Given the description of an element on the screen output the (x, y) to click on. 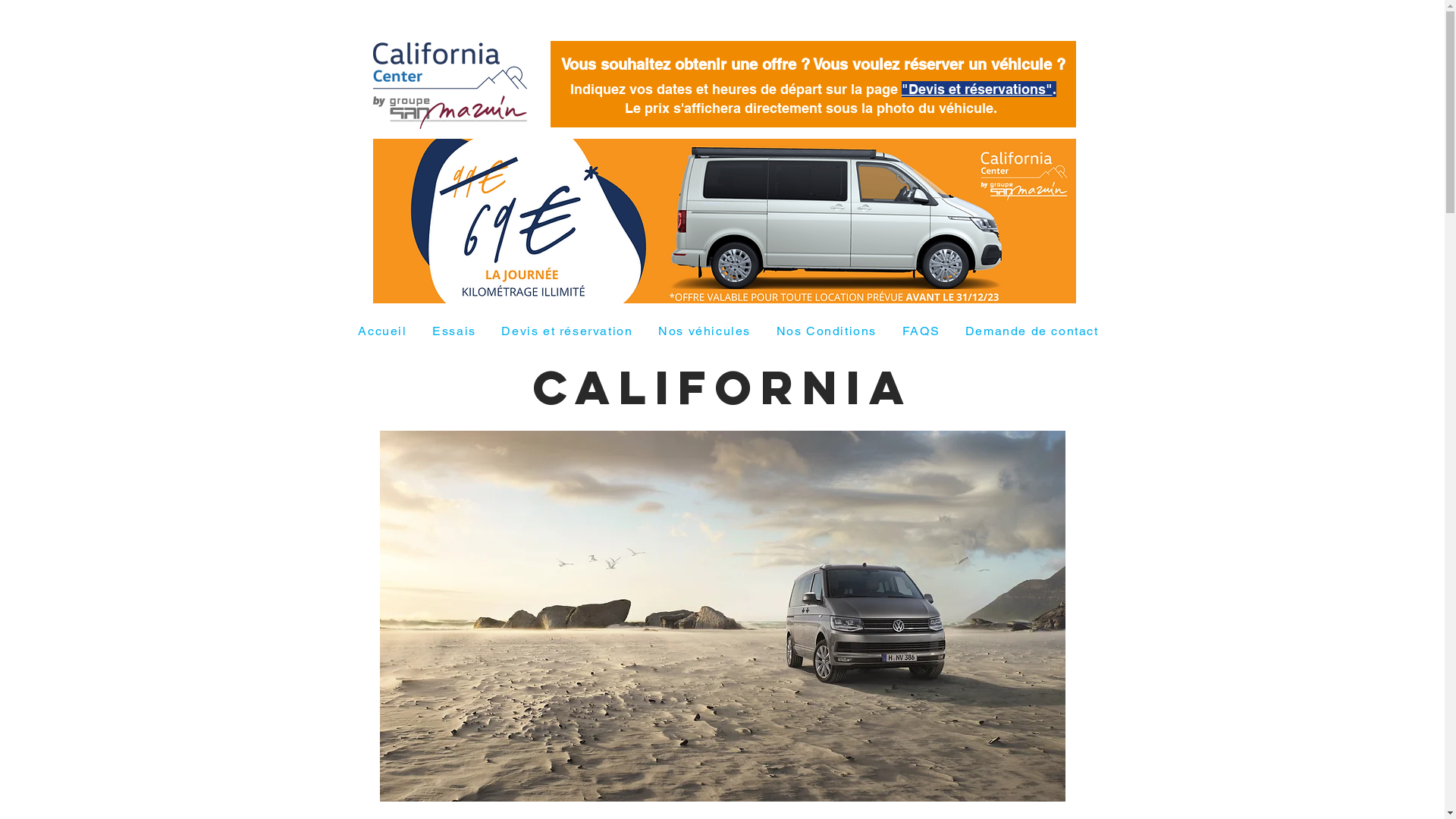
Accueil Element type: text (382, 331)
Demande de contact Element type: text (1031, 331)
FAQS Element type: text (920, 331)
Essais Element type: text (453, 331)
Nos Conditions Element type: text (826, 331)
